Given the description of an element on the screen output the (x, y) to click on. 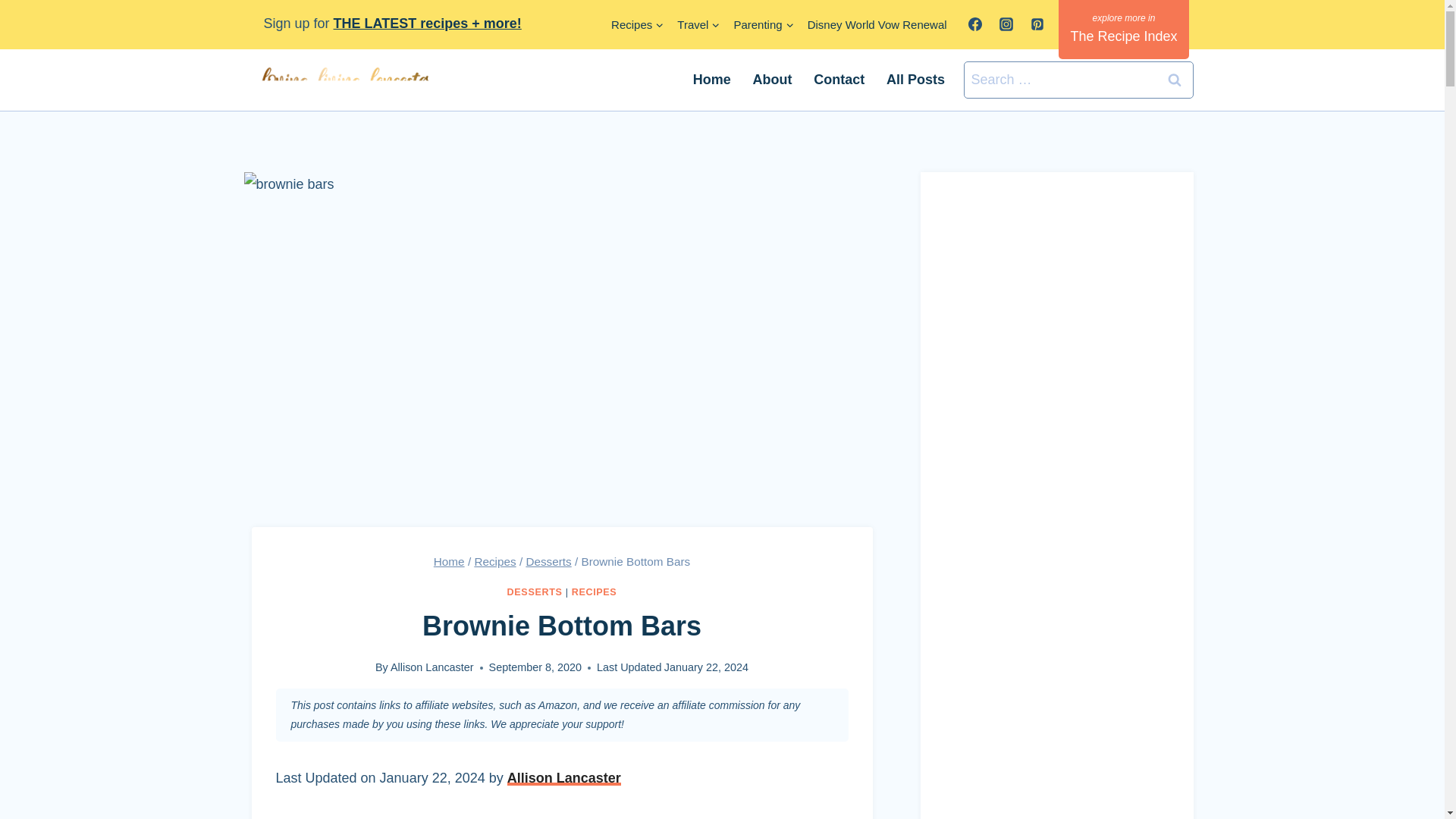
Travel (697, 24)
Contact (839, 78)
Home (711, 78)
Search (1174, 79)
Search (1174, 79)
All Posts (916, 78)
About (772, 78)
Search (1174, 79)
The Recipe Index (1123, 29)
Recipes (636, 24)
Recipes (494, 561)
Parenting (762, 24)
Disney World Vow Renewal (876, 24)
Home (448, 561)
